Given the description of an element on the screen output the (x, y) to click on. 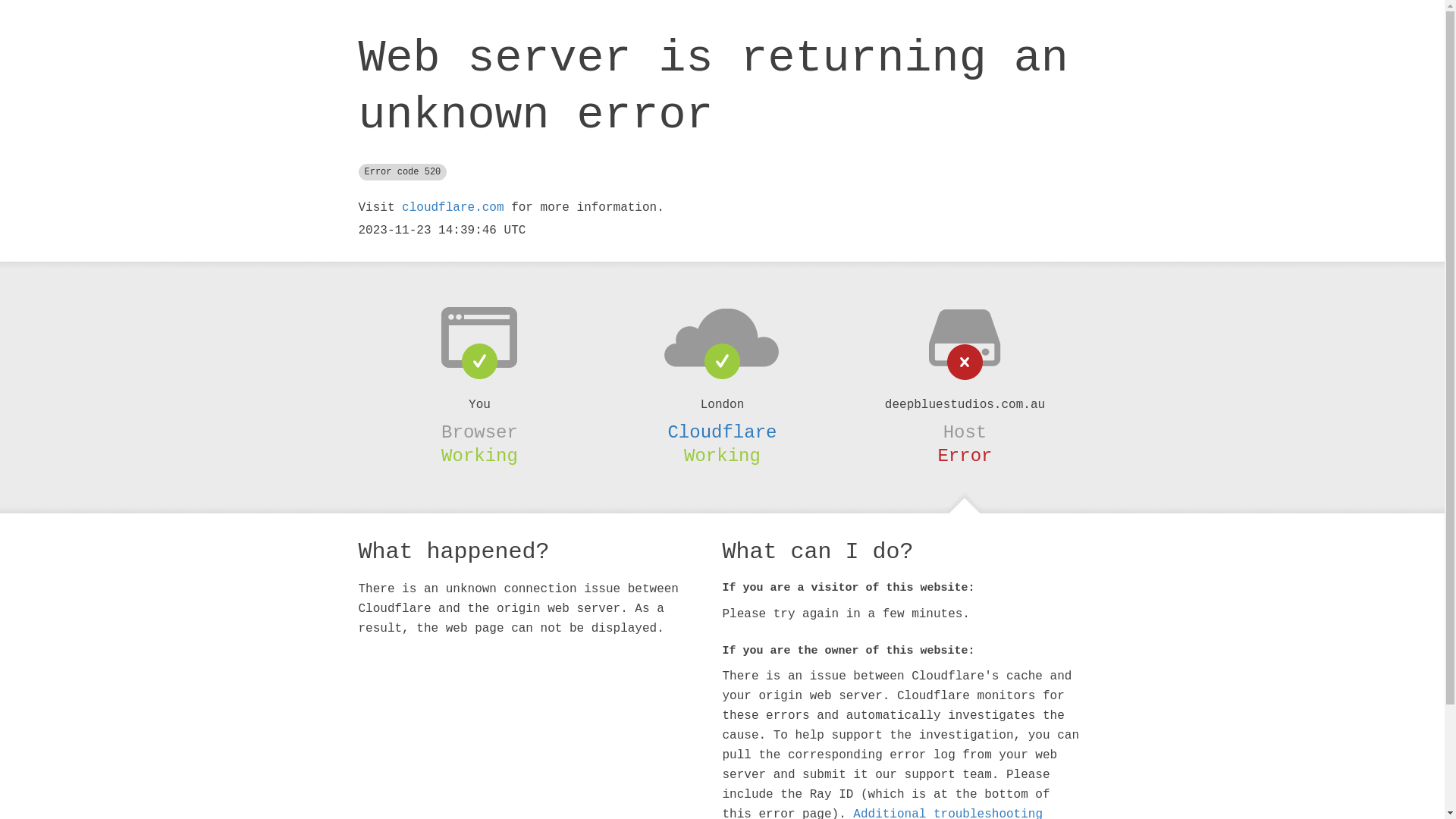
Cloudflare Element type: text (721, 432)
cloudflare.com Element type: text (452, 207)
